Given the description of an element on the screen output the (x, y) to click on. 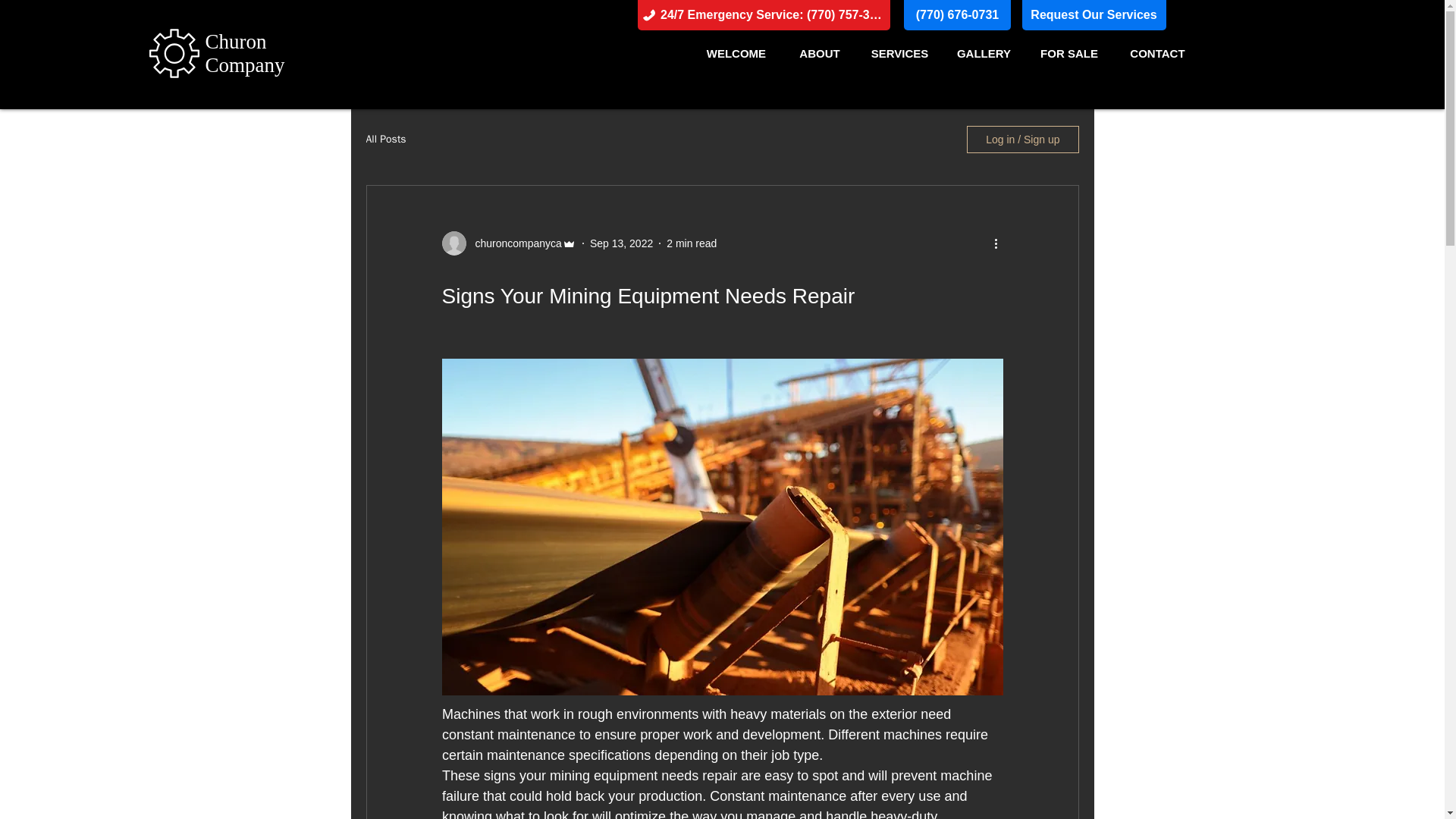
GALLERY (983, 53)
CONTACT (1157, 53)
FOR SALE (1069, 53)
churoncompanyca (512, 242)
2 min read (691, 242)
Request Our Services (1094, 15)
WELCOME (736, 53)
ABOUT (820, 53)
Sep 13, 2022 (620, 242)
Churon Company (244, 53)
All Posts (385, 139)
